Given the description of an element on the screen output the (x, y) to click on. 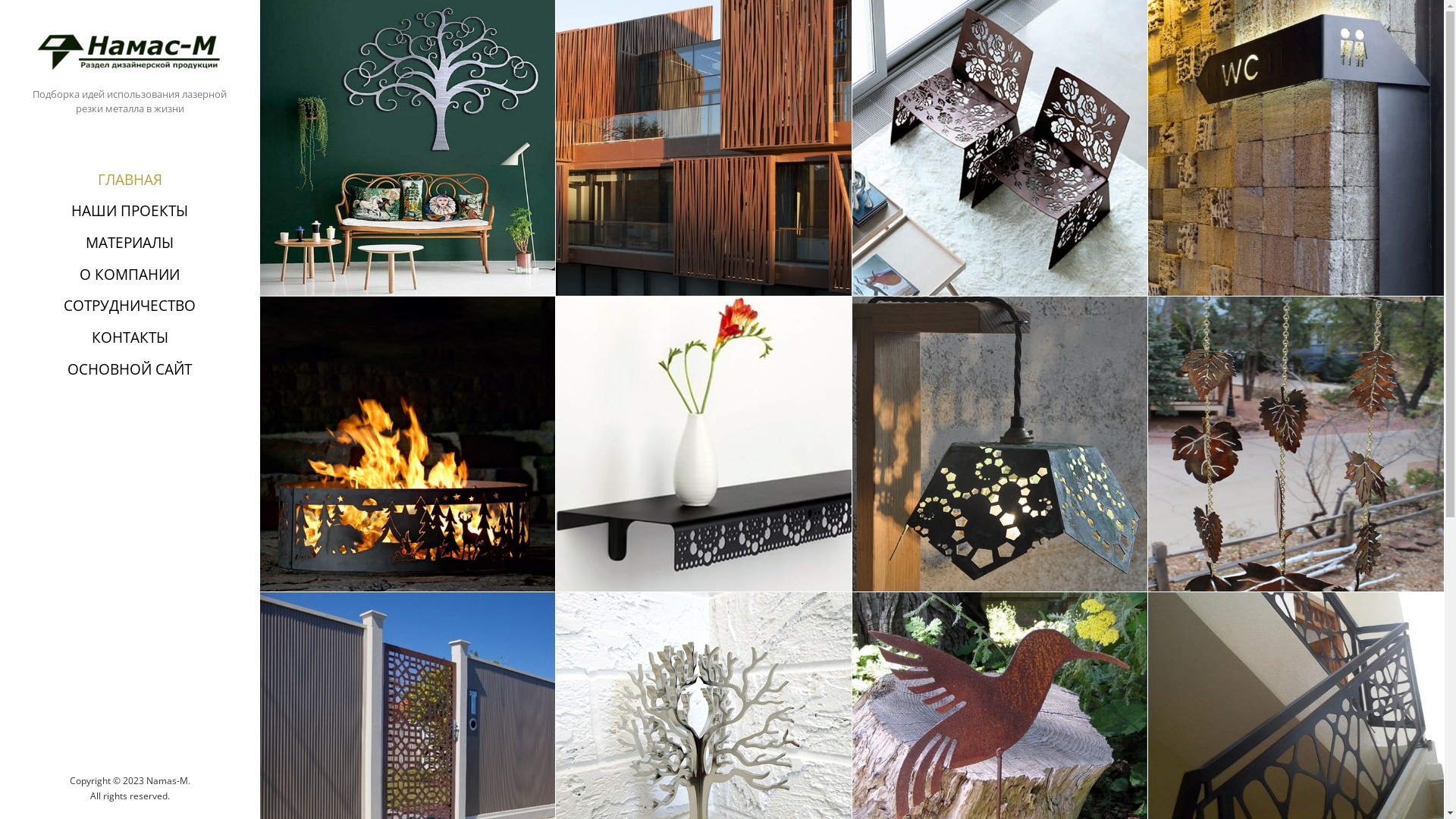
Skip to content Element type: text (0, 0)
